Given the description of an element on the screen output the (x, y) to click on. 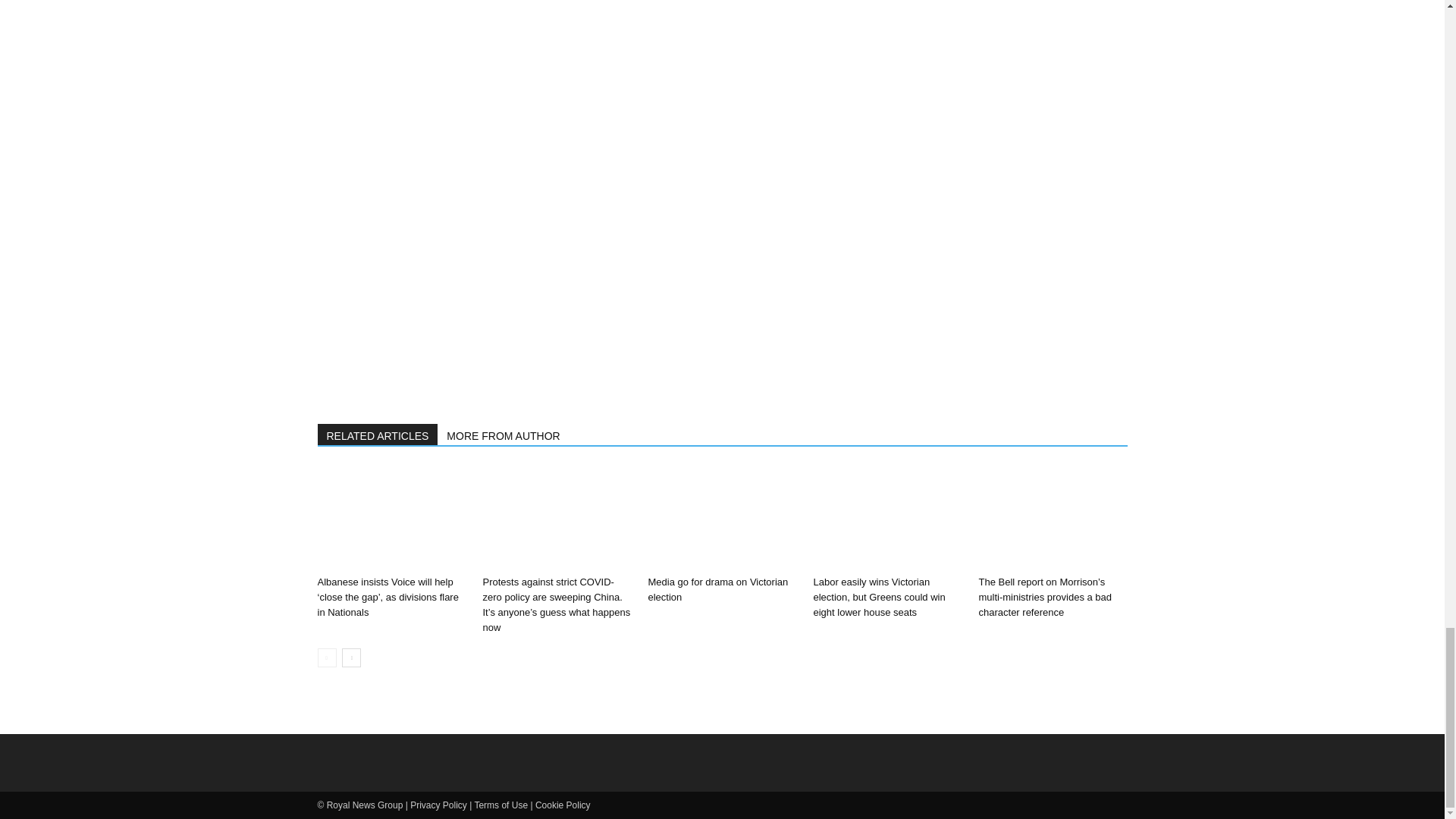
Media go for drama on Victorian election (717, 589)
RELATED ARTICLES (377, 434)
Media go for drama on Victorian election (717, 589)
MORE FROM AUTHOR (503, 434)
Media go for drama on Victorian election (721, 517)
